Given the description of an element on the screen output the (x, y) to click on. 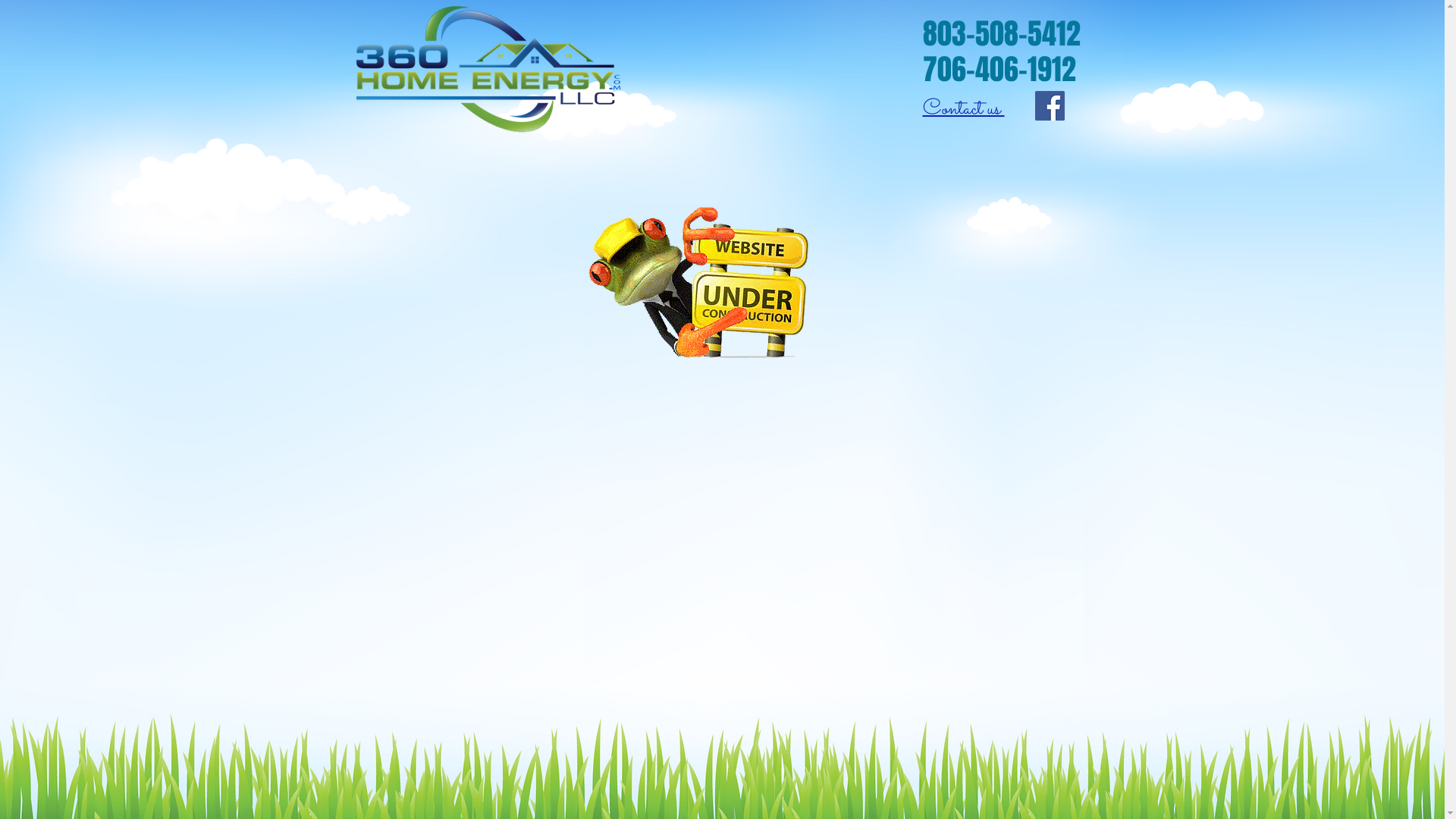
Contact us  Element type: text (963, 105)
360 logo house final_edited-1.png Element type: hover (485, 71)
